Given the description of an element on the screen output the (x, y) to click on. 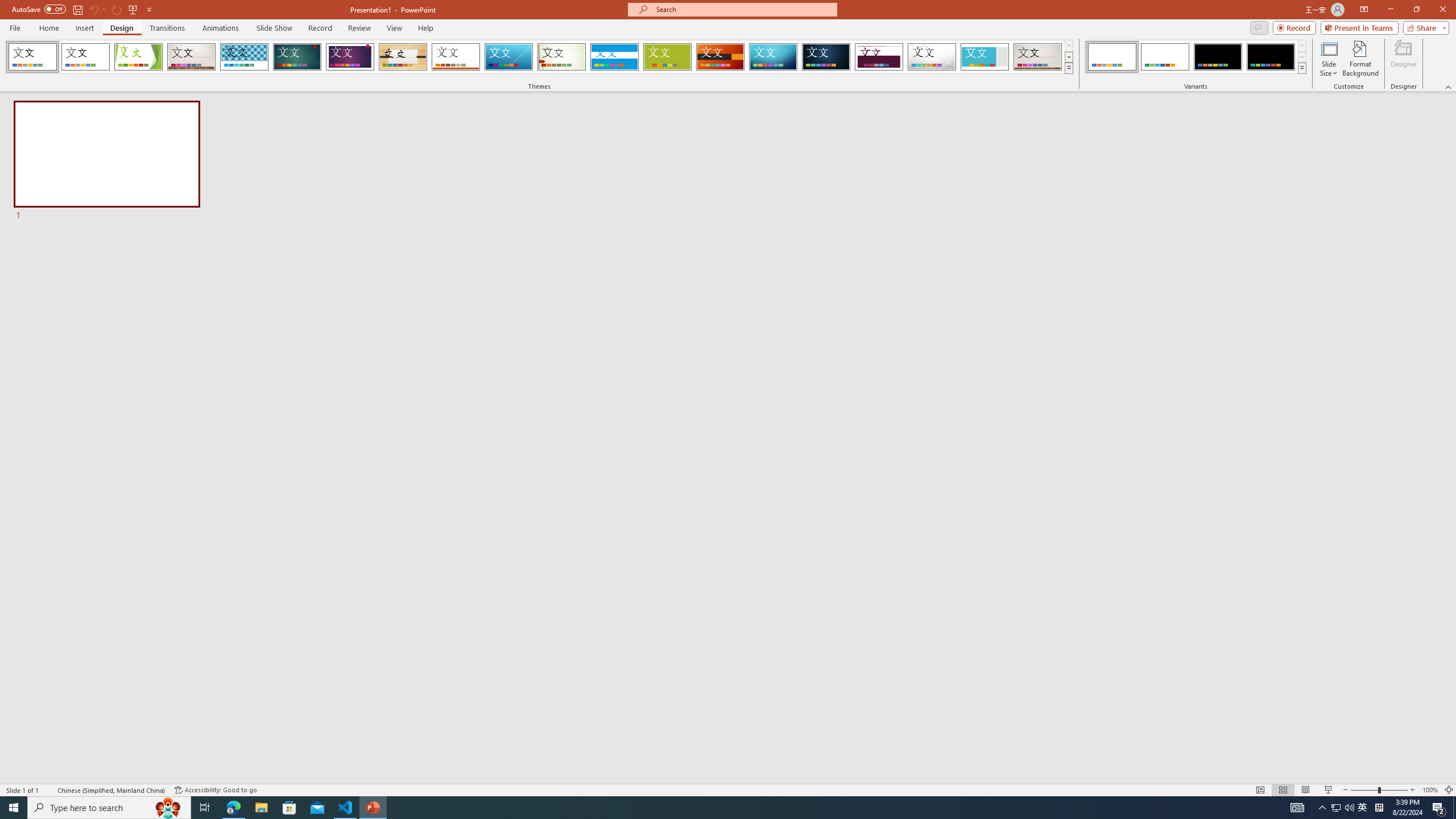
Basis Loading Preview... (667, 56)
Banded Loading Preview... (614, 56)
Office Theme Variant 1 (1112, 56)
